Given the description of an element on the screen output the (x, y) to click on. 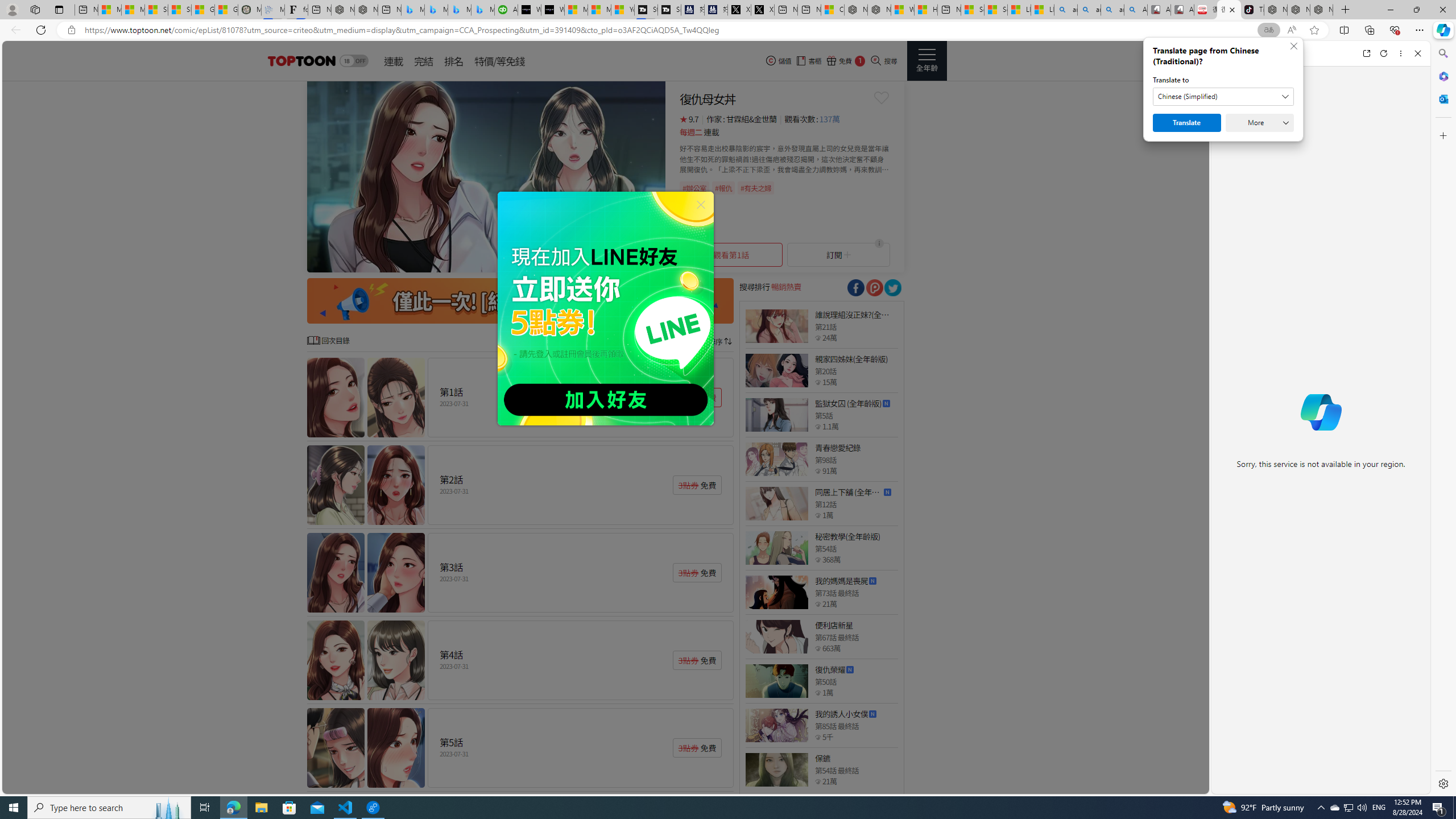
Microsoft Bing Travel - Stays in Bangkok, Bangkok, Thailand (435, 9)
Nordace - #1 Japanese Best-Seller - Siena Smart Backpack (365, 9)
Class: thumb_img (776, 769)
